Given the description of an element on the screen output the (x, y) to click on. 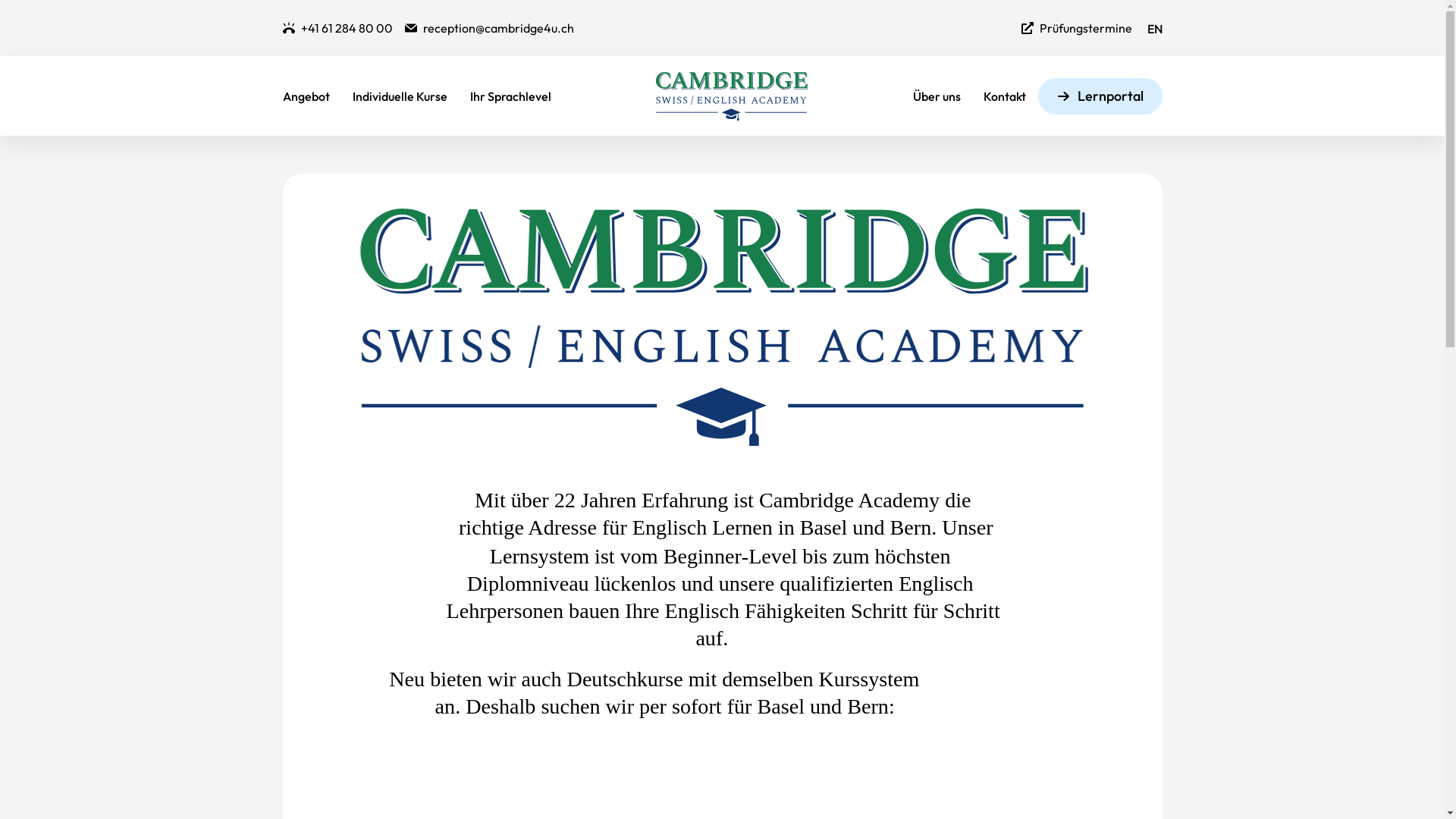
Lernportal Element type: text (1099, 96)
Ihr Sprachlevel Element type: text (510, 96)
Angebot Element type: text (305, 96)
Individuelle Kurse Element type: text (398, 96)
EN Element type: text (1153, 29)
Kontakt Element type: text (1004, 96)
+41 61 284 80 00 Element type: text (337, 27)
reception@cambridge4u.ch Element type: text (489, 27)
